Given the description of an element on the screen output the (x, y) to click on. 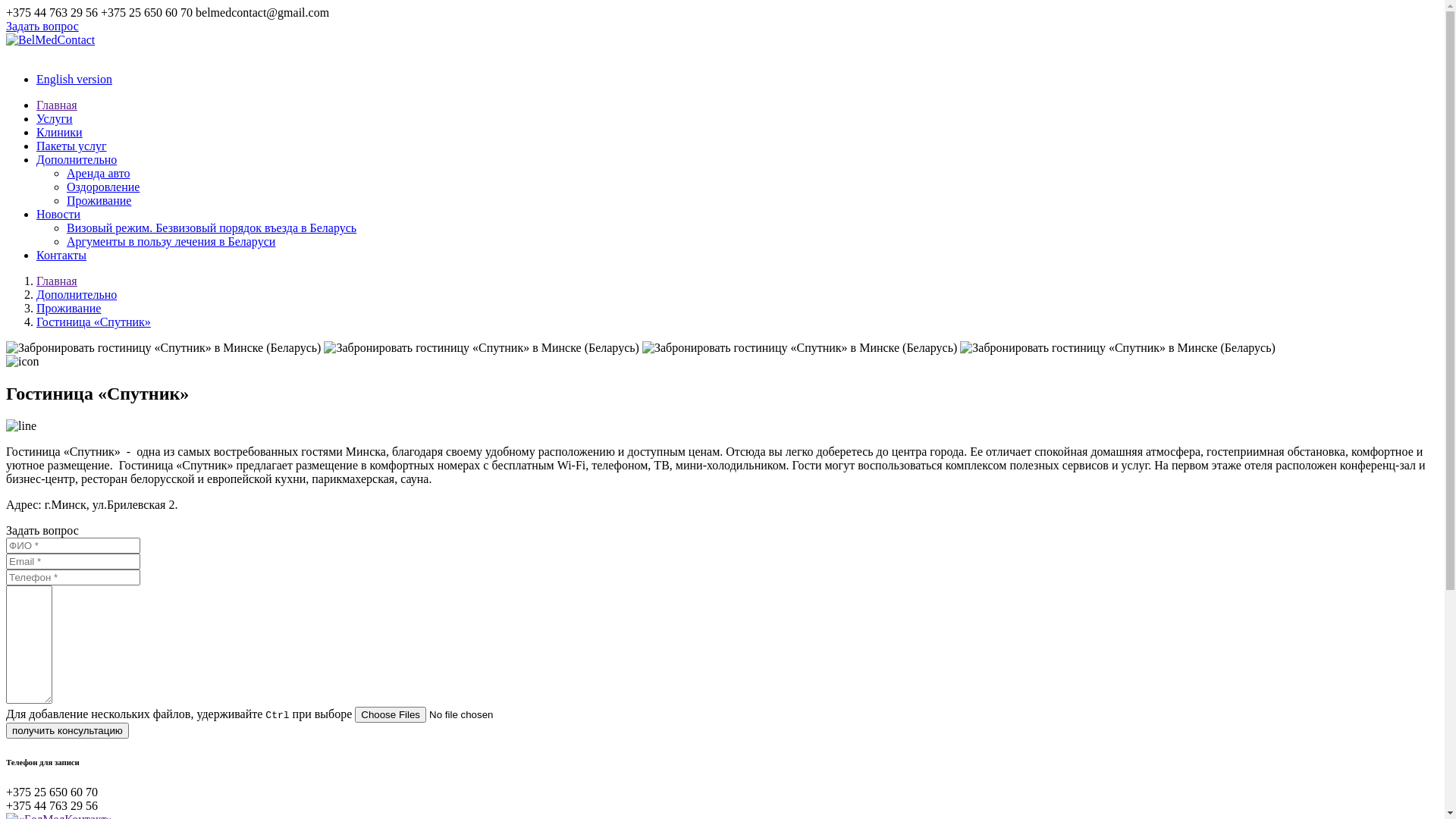
English version Element type: text (74, 78)
